Given the description of an element on the screen output the (x, y) to click on. 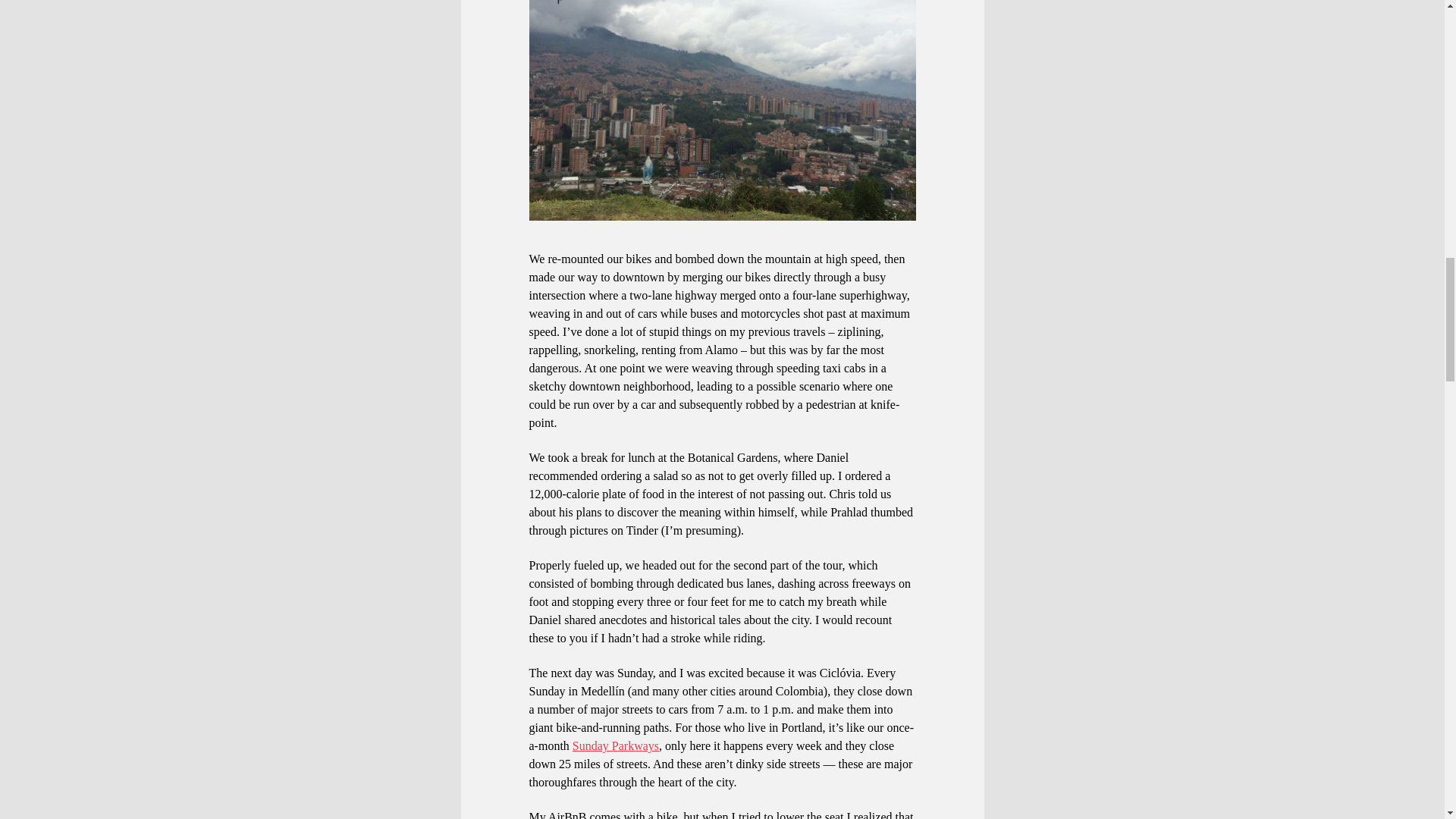
Sunday Parkways (615, 745)
